Given the description of an element on the screen output the (x, y) to click on. 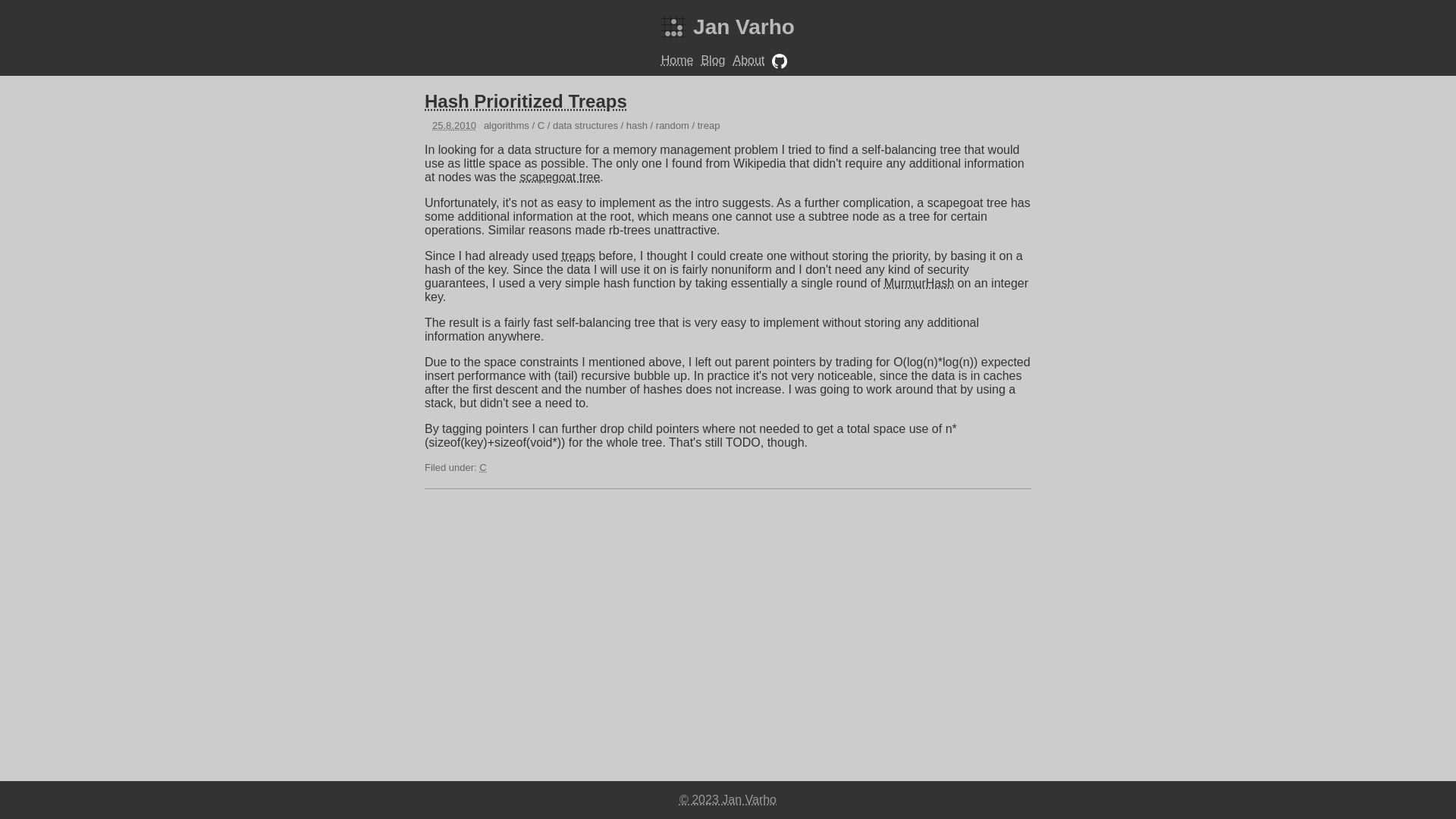
MurmurHash (918, 282)
Blog (712, 59)
Home (677, 59)
scapegoat tree (559, 176)
Hash Prioritized Treaps (526, 100)
treaps (578, 255)
About (748, 59)
